Given the description of an element on the screen output the (x, y) to click on. 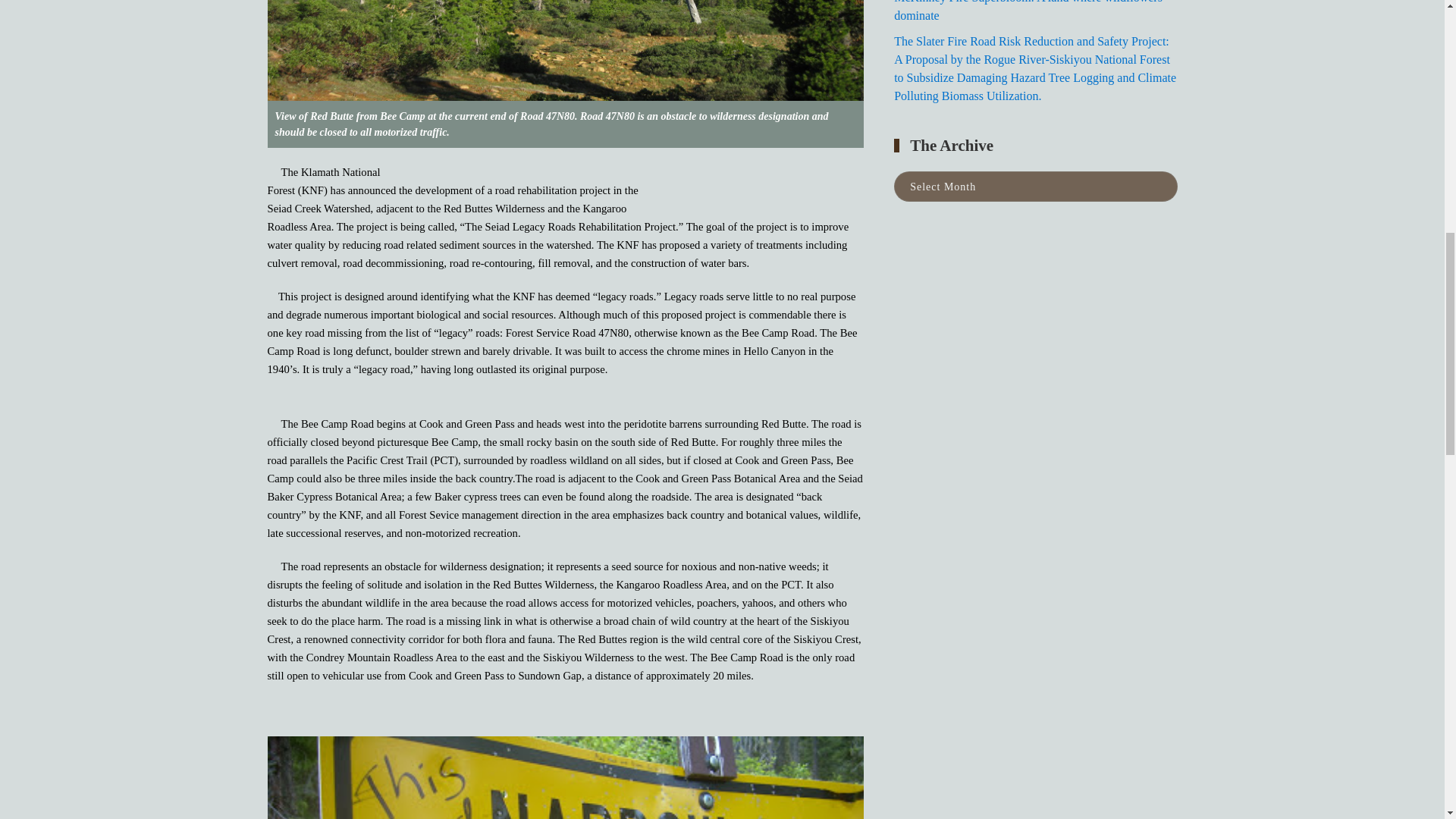
McKinney Fire Superbloom: A land where wildflowers dominate (1027, 11)
